Given the description of an element on the screen output the (x, y) to click on. 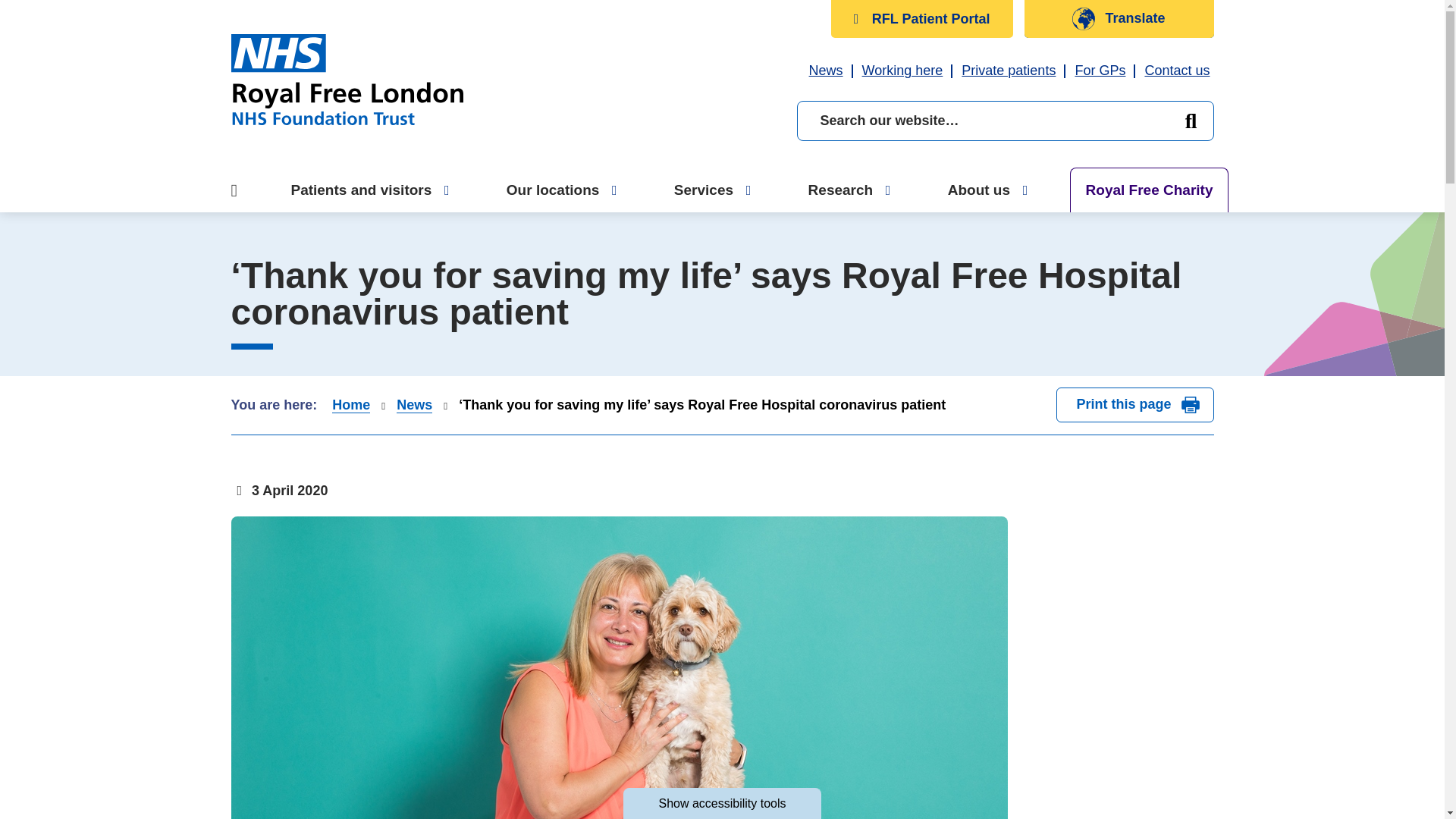
Flu, COVID-19 and sickness bugs (355, 2)
Find a ward (288, 84)
For GPs (1099, 70)
Homepage (346, 79)
Contact us (1176, 70)
Search (1189, 120)
Patient transport (303, 20)
Patients and visitors (446, 189)
Visiting patients (296, 57)
Food and drink at our hospitals (351, 122)
